Given the description of an element on the screen output the (x, y) to click on. 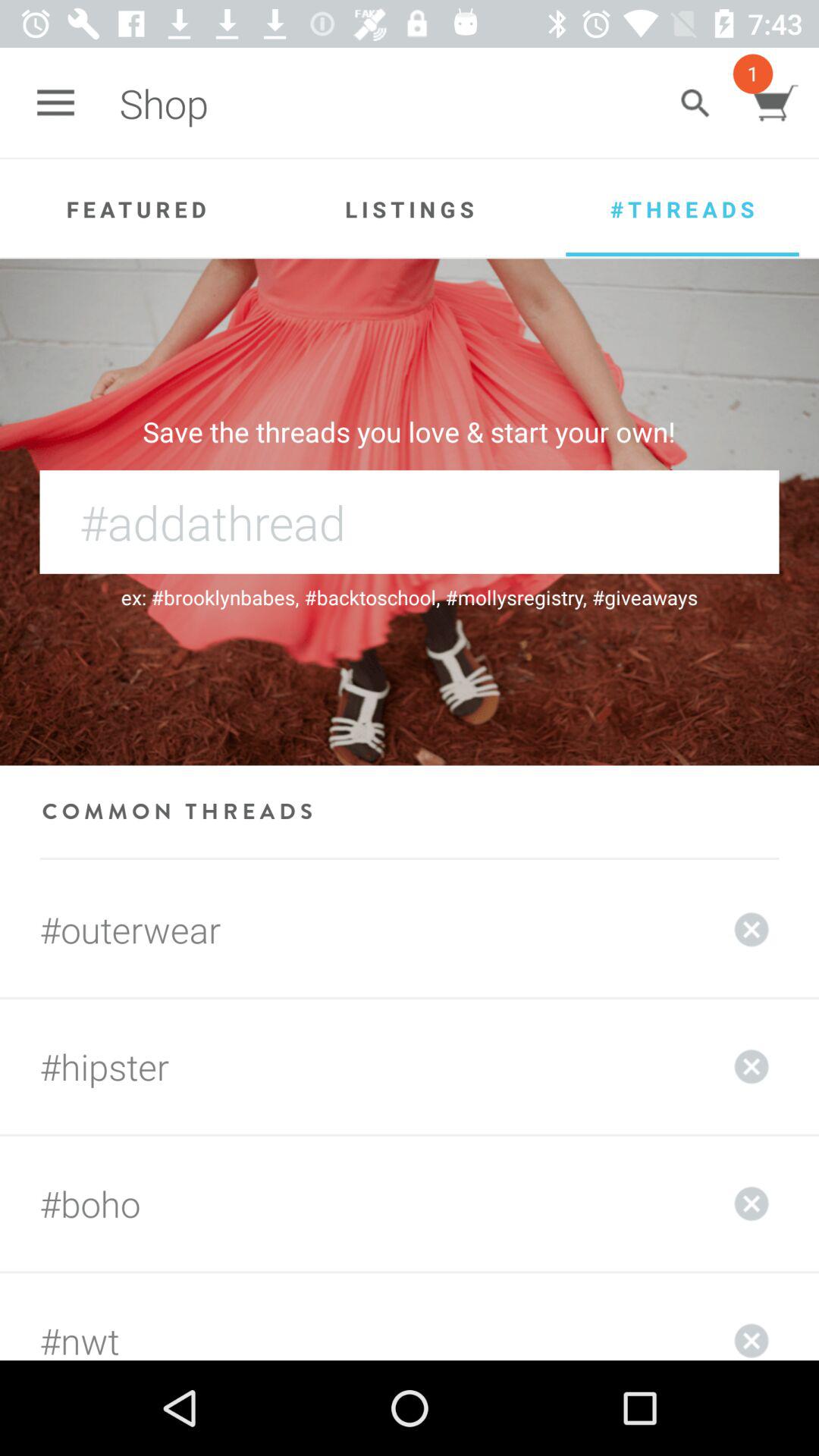
close option (751, 1316)
